Given the description of an element on the screen output the (x, y) to click on. 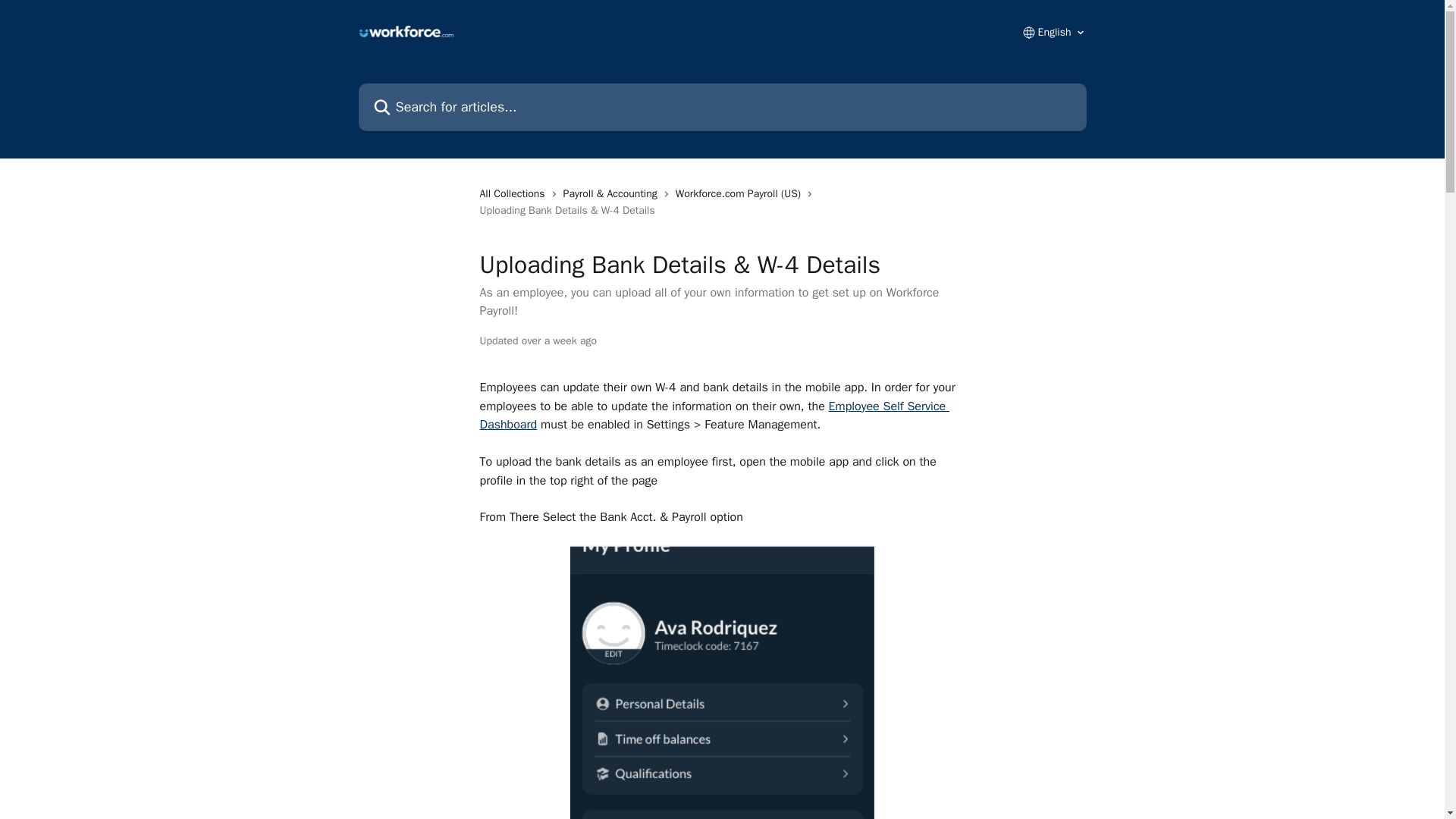
Employee Self Service Dashboard (714, 415)
All Collections (514, 193)
